Given the description of an element on the screen output the (x, y) to click on. 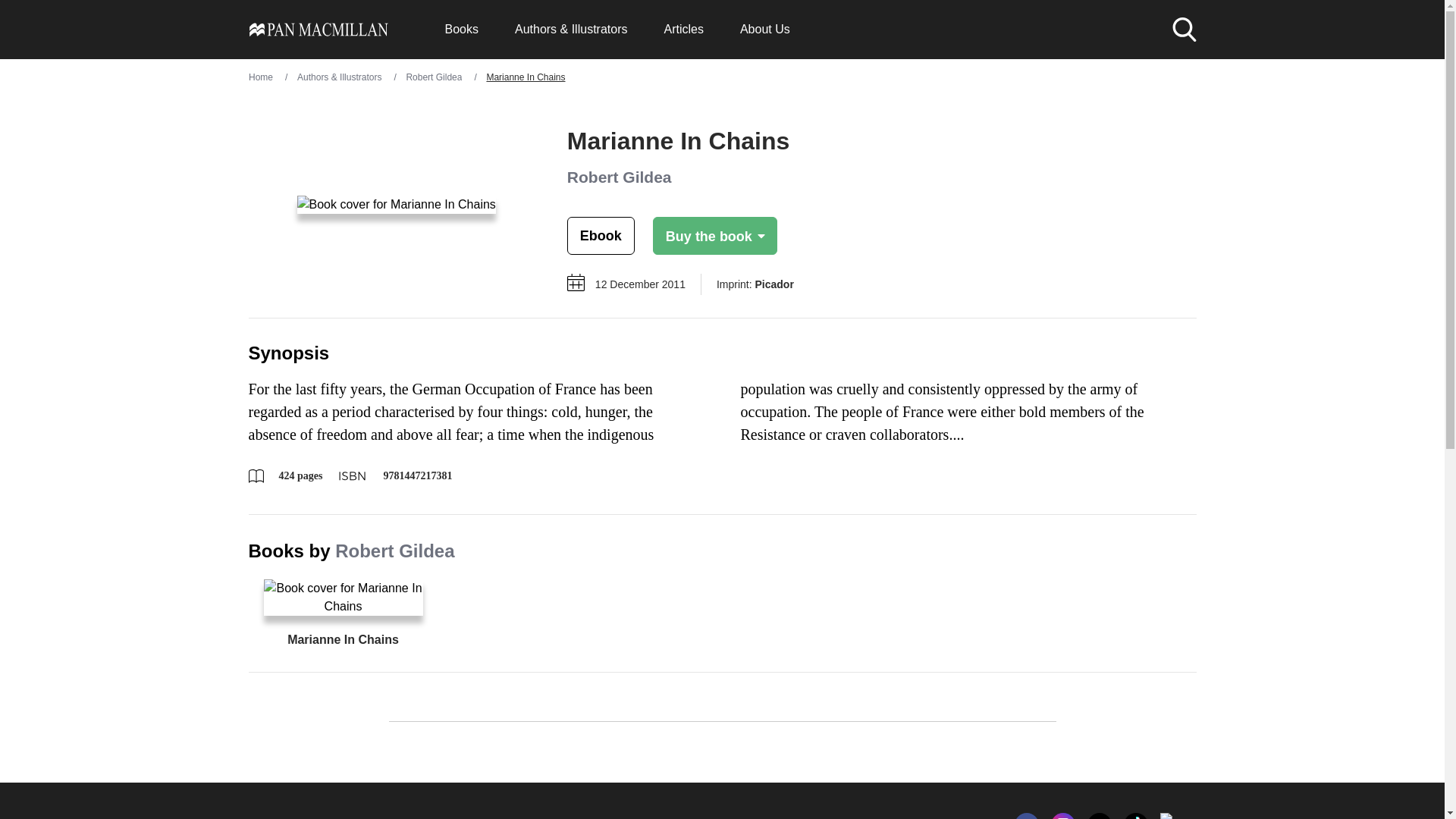
Books (460, 29)
Instagram (1063, 816)
Facebook (1026, 816)
TikTok (1136, 816)
YouTube (1172, 816)
